Given the description of an element on the screen output the (x, y) to click on. 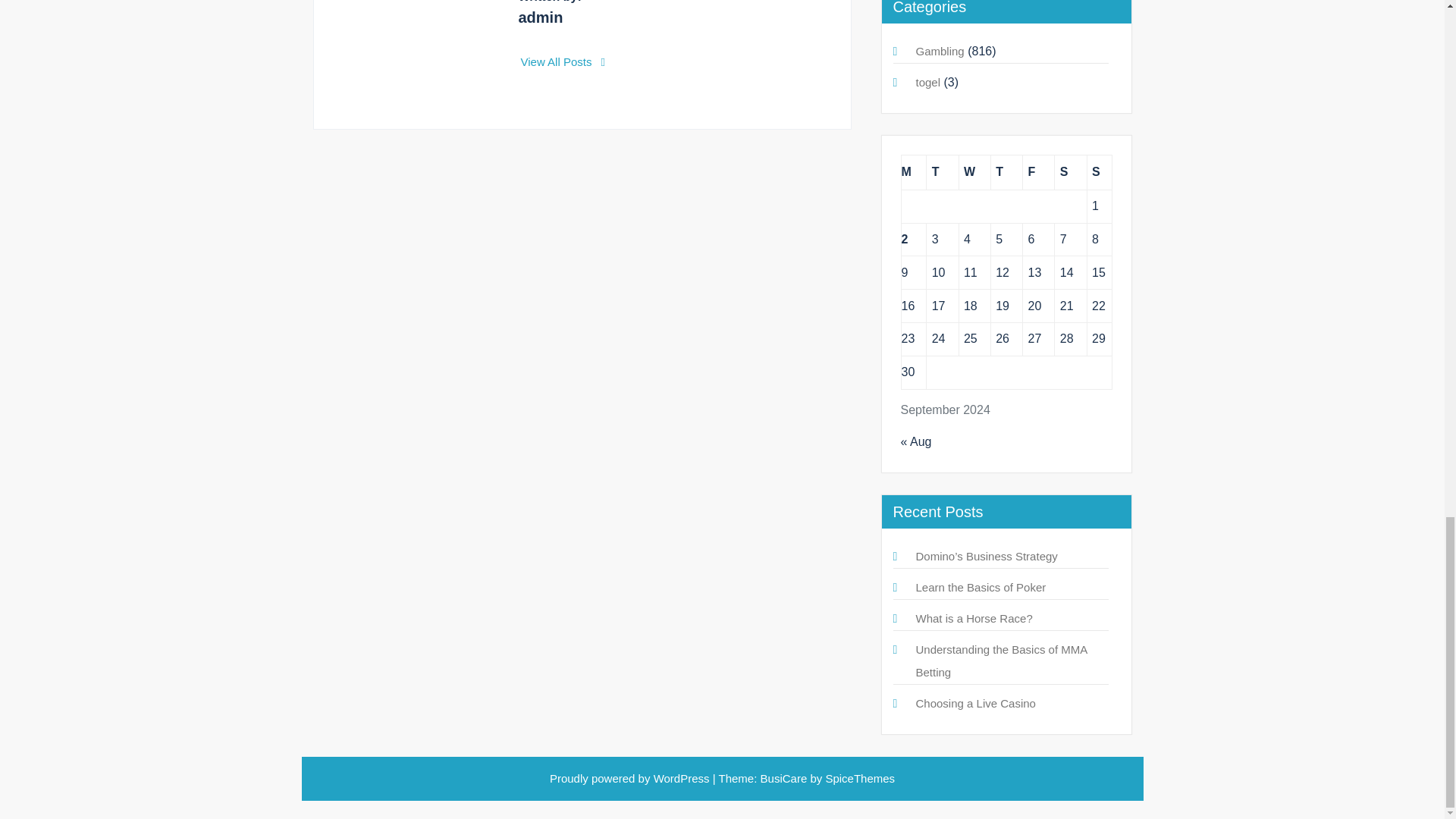
Friday (1038, 172)
Wednesday (974, 172)
Tuesday (942, 172)
View All Posts (562, 61)
Thursday (1006, 172)
Saturday (1070, 172)
